Given the description of an element on the screen output the (x, y) to click on. 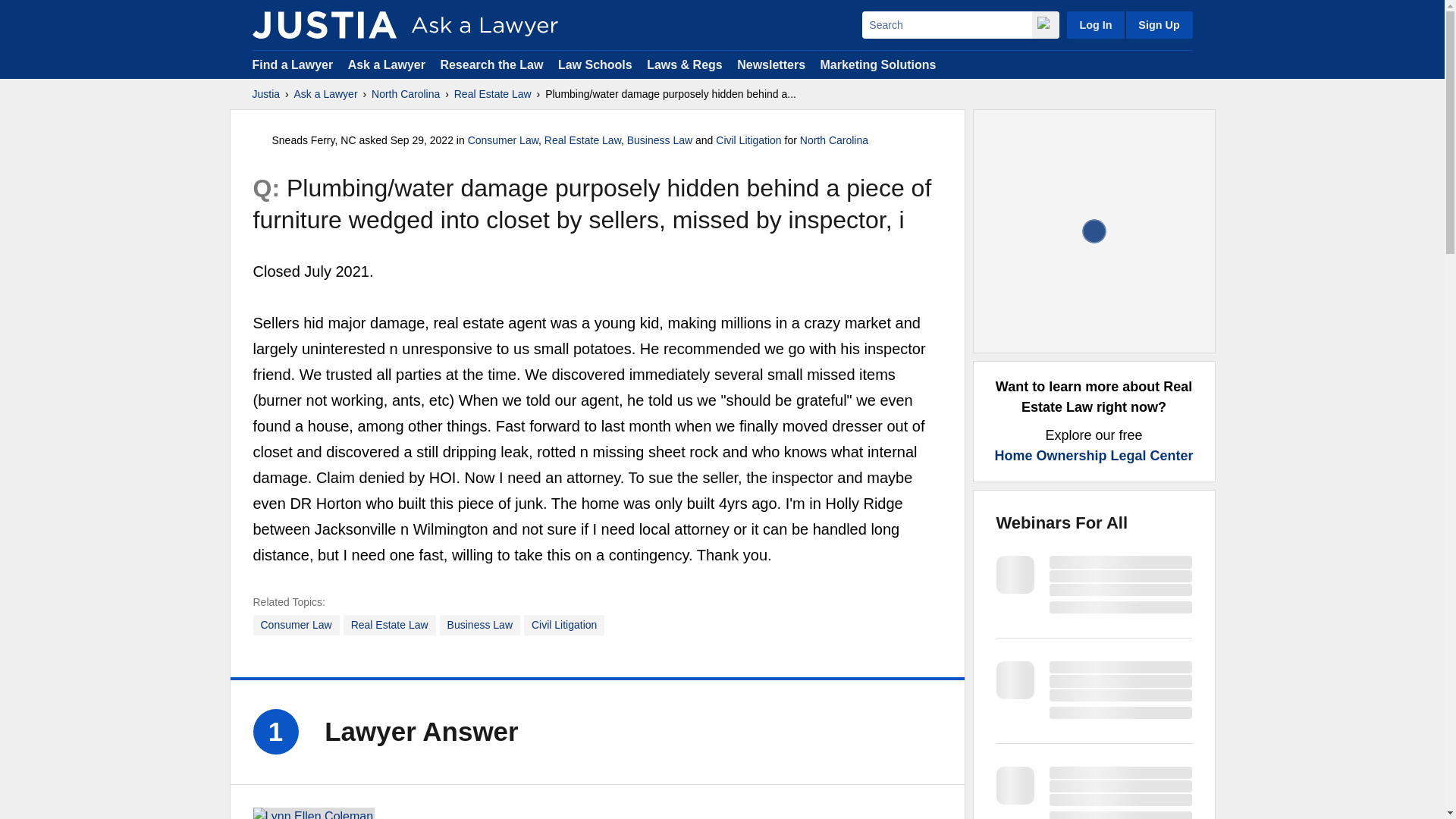
Civil Litigation (748, 140)
North Carolina (405, 93)
Search (945, 24)
Real Estate Law (582, 140)
Sign Up (1158, 24)
Research the Law (491, 64)
Newsletters (770, 64)
Log In (1094, 24)
Law Schools (594, 64)
Find a Lawyer (292, 64)
